Given the description of an element on the screen output the (x, y) to click on. 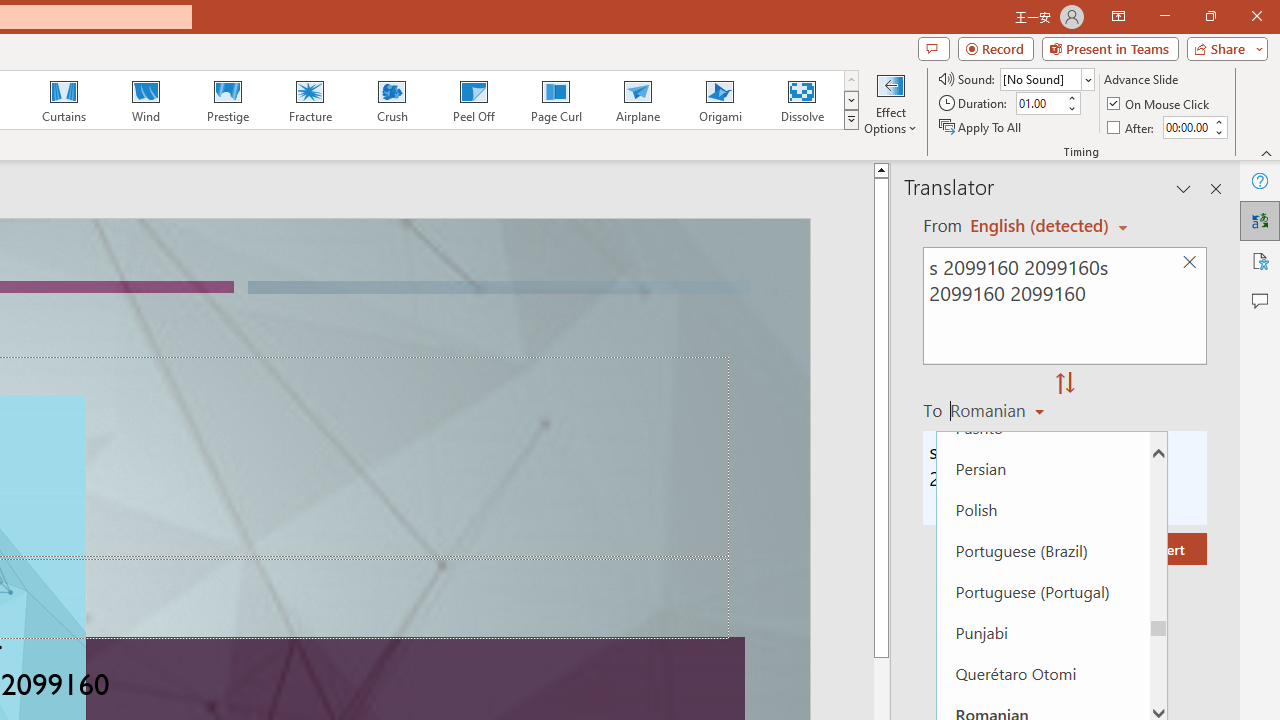
+86 159 0032 4640 (799, 672)
Microsoft Cashback - US$0.00 (1041, 216)
